Given the description of an element on the screen output the (x, y) to click on. 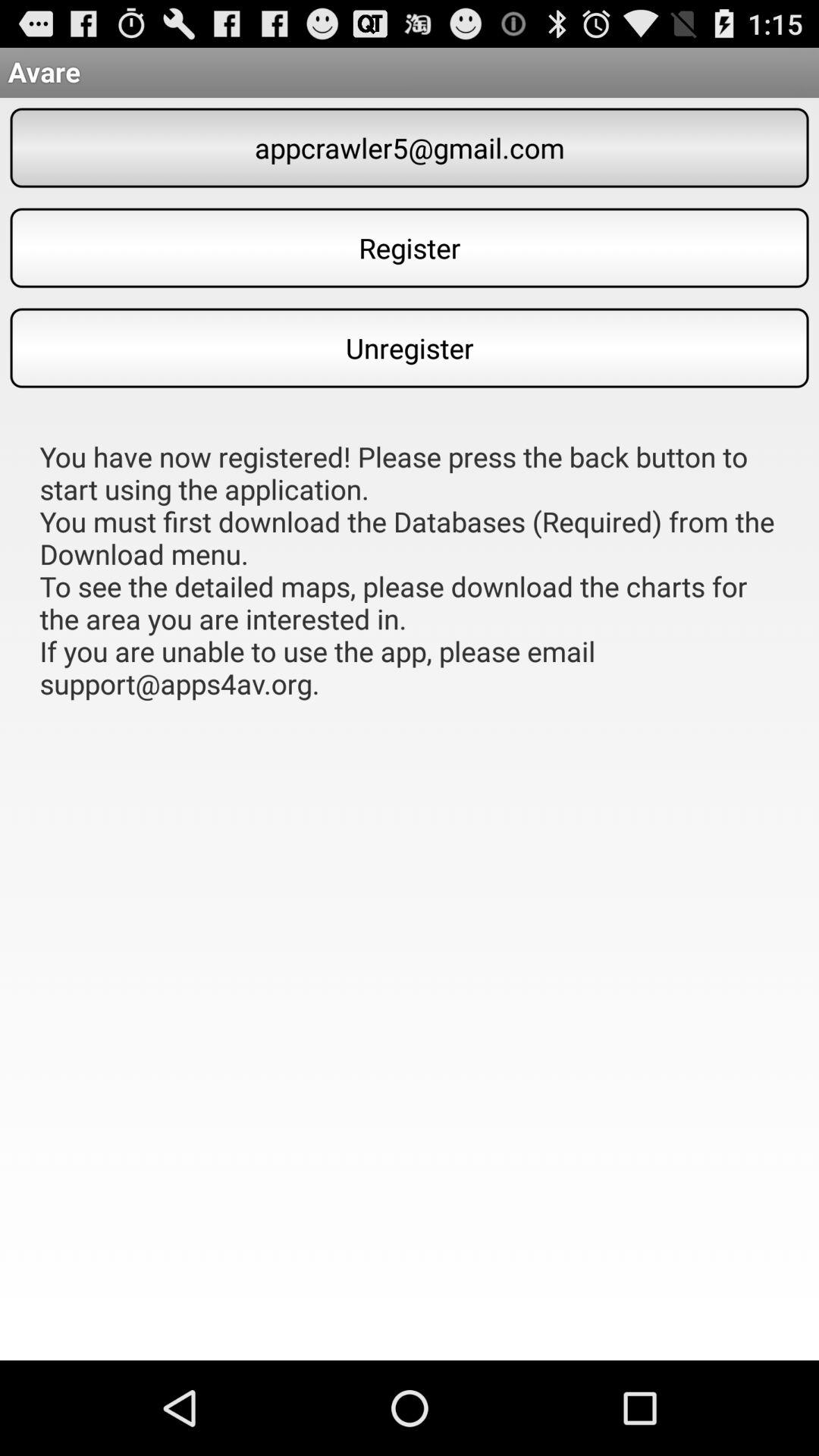
open item above the unregister (409, 247)
